Given the description of an element on the screen output the (x, y) to click on. 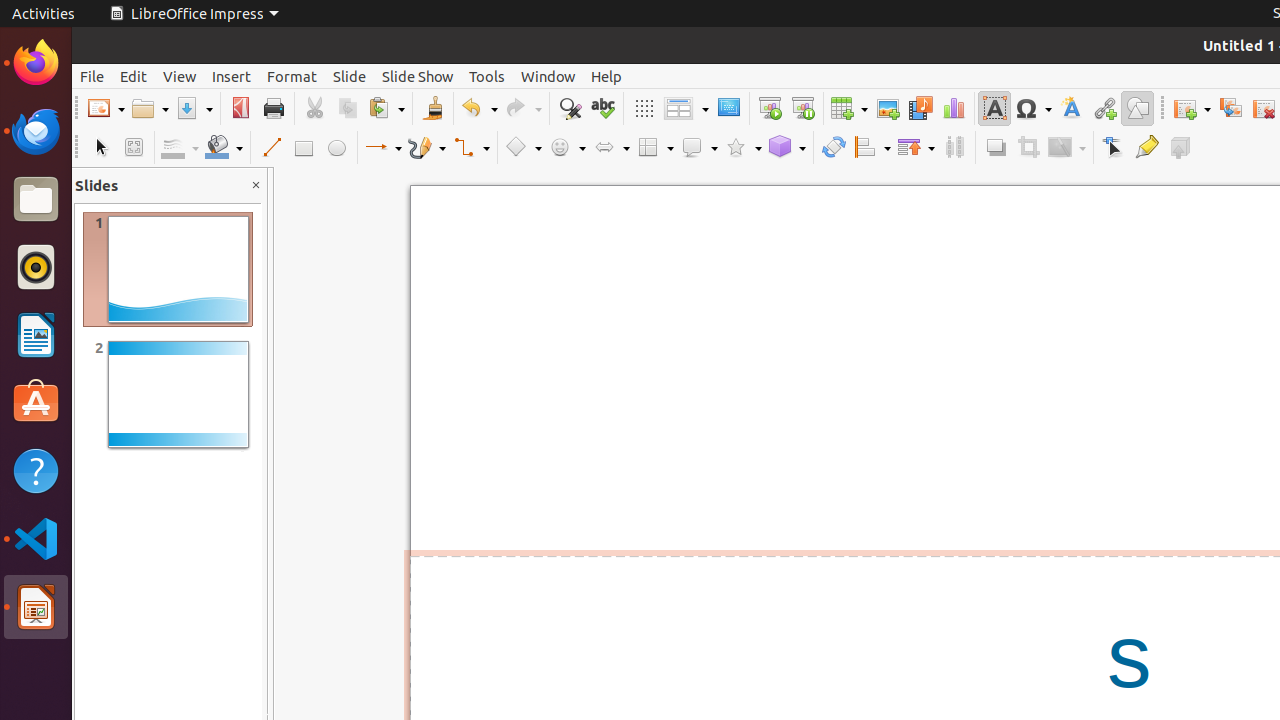
Edit Element type: menu (133, 76)
Arrange Element type: push-button (916, 147)
Select Element type: push-button (100, 147)
Files Element type: push-button (36, 199)
Star Shapes Element type: push-button (743, 147)
